Given the description of an element on the screen output the (x, y) to click on. 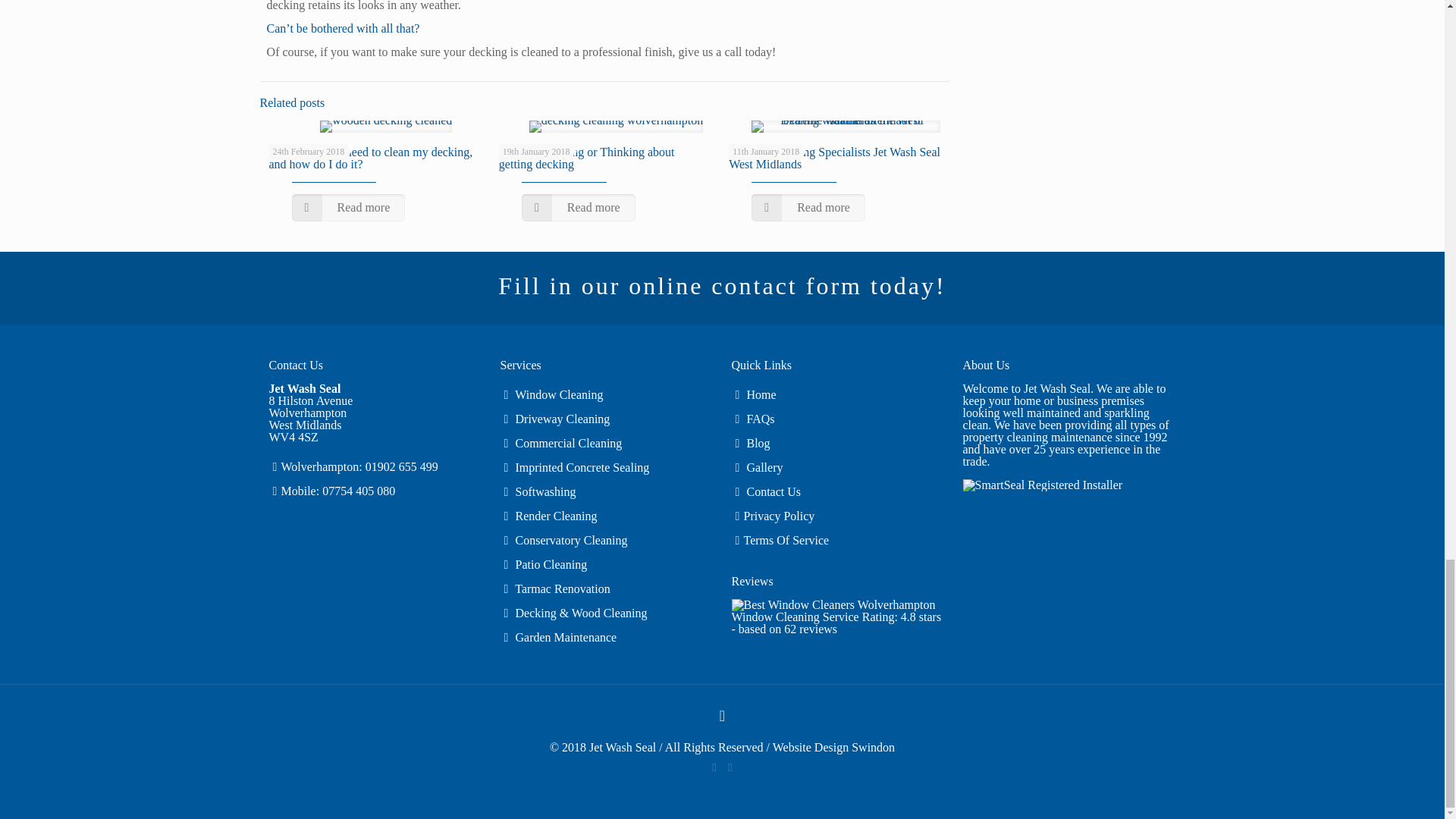
How often do I need to clean my decking, and how do I do it? (369, 157)
Facebook (713, 767)
Instagram (730, 767)
